Given the description of an element on the screen output the (x, y) to click on. 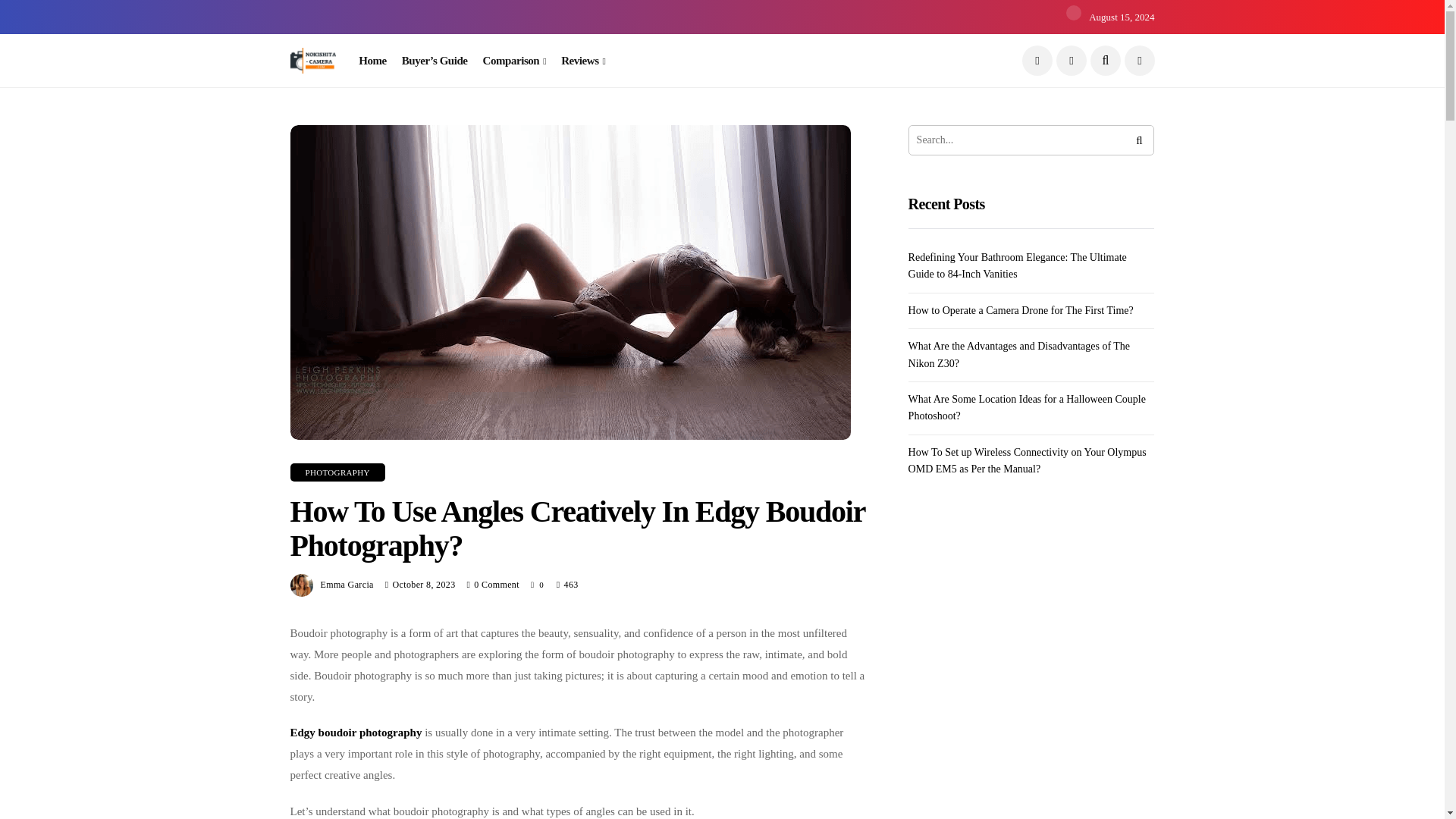
Posts by Emma Garcia (346, 584)
Comparison (515, 60)
Like (537, 584)
